Given the description of an element on the screen output the (x, y) to click on. 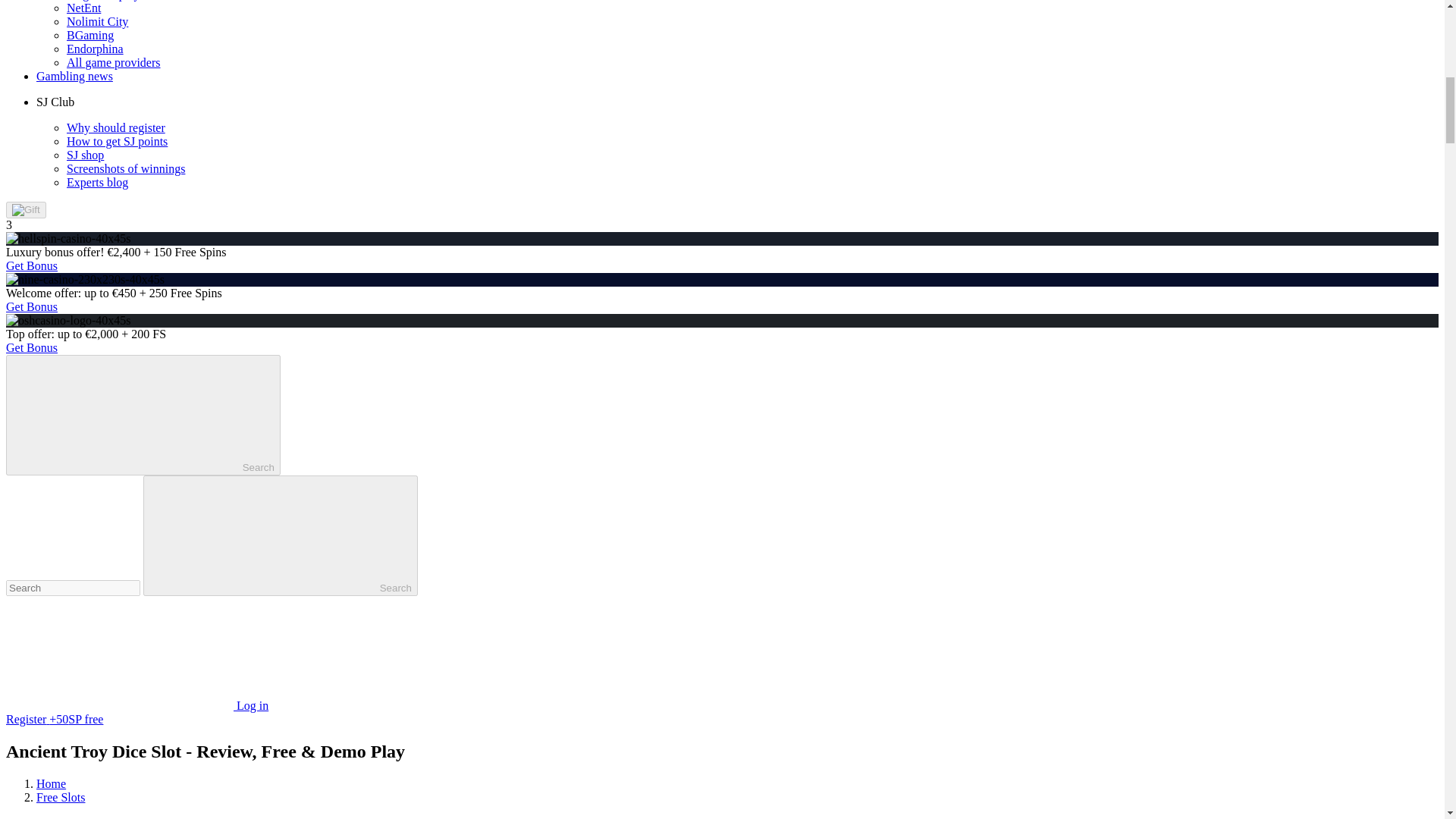
Pragmatic play (102, 0)
NetEnt (83, 7)
submit (279, 535)
